Given the description of an element on the screen output the (x, y) to click on. 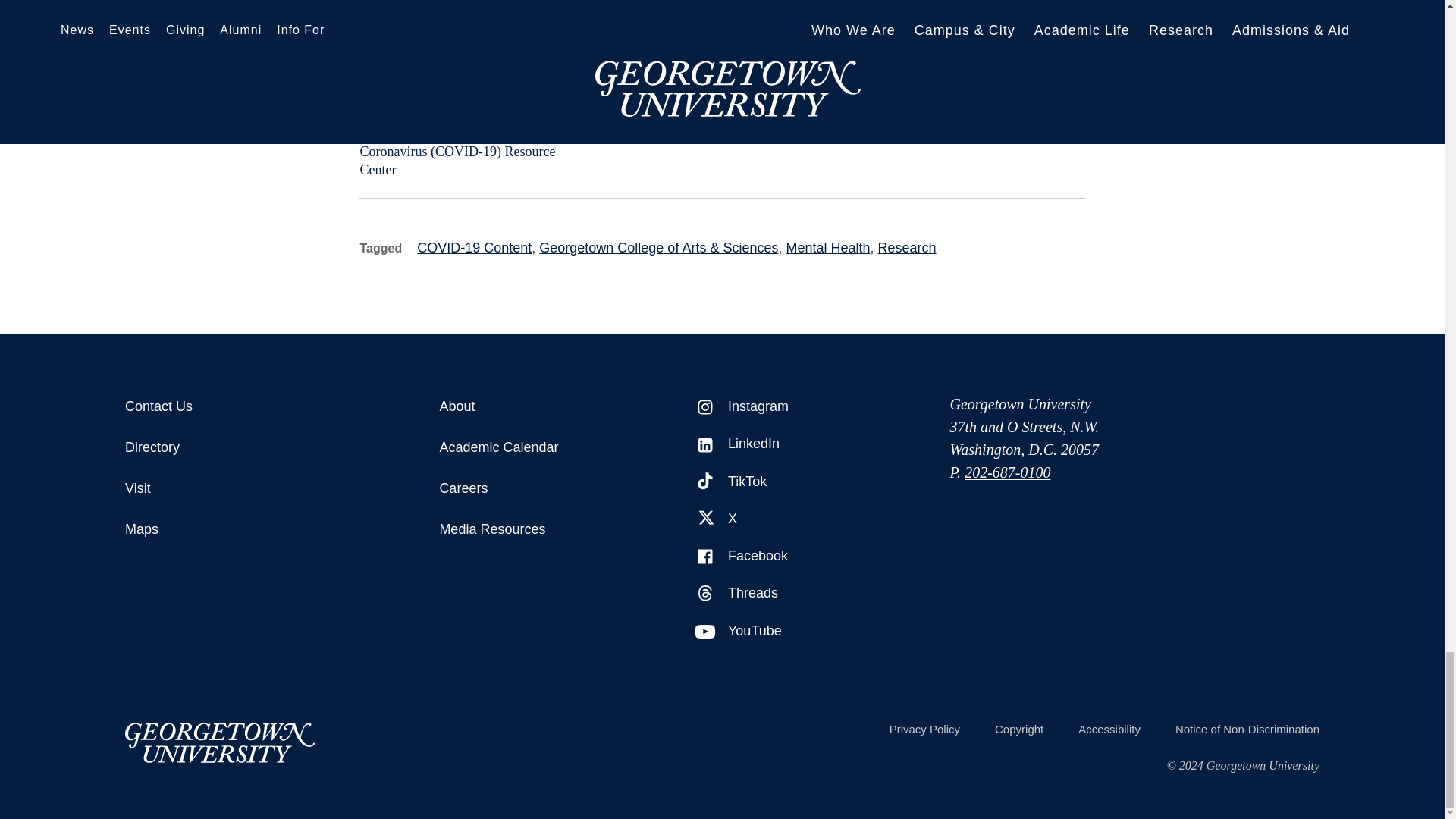
TikTok (705, 481)
Georgetown University (219, 742)
Facebook (705, 556)
YouTube (705, 630)
X (705, 518)
Instagram (705, 406)
LinkedIn (705, 445)
Threads (705, 593)
